Given the description of an element on the screen output the (x, y) to click on. 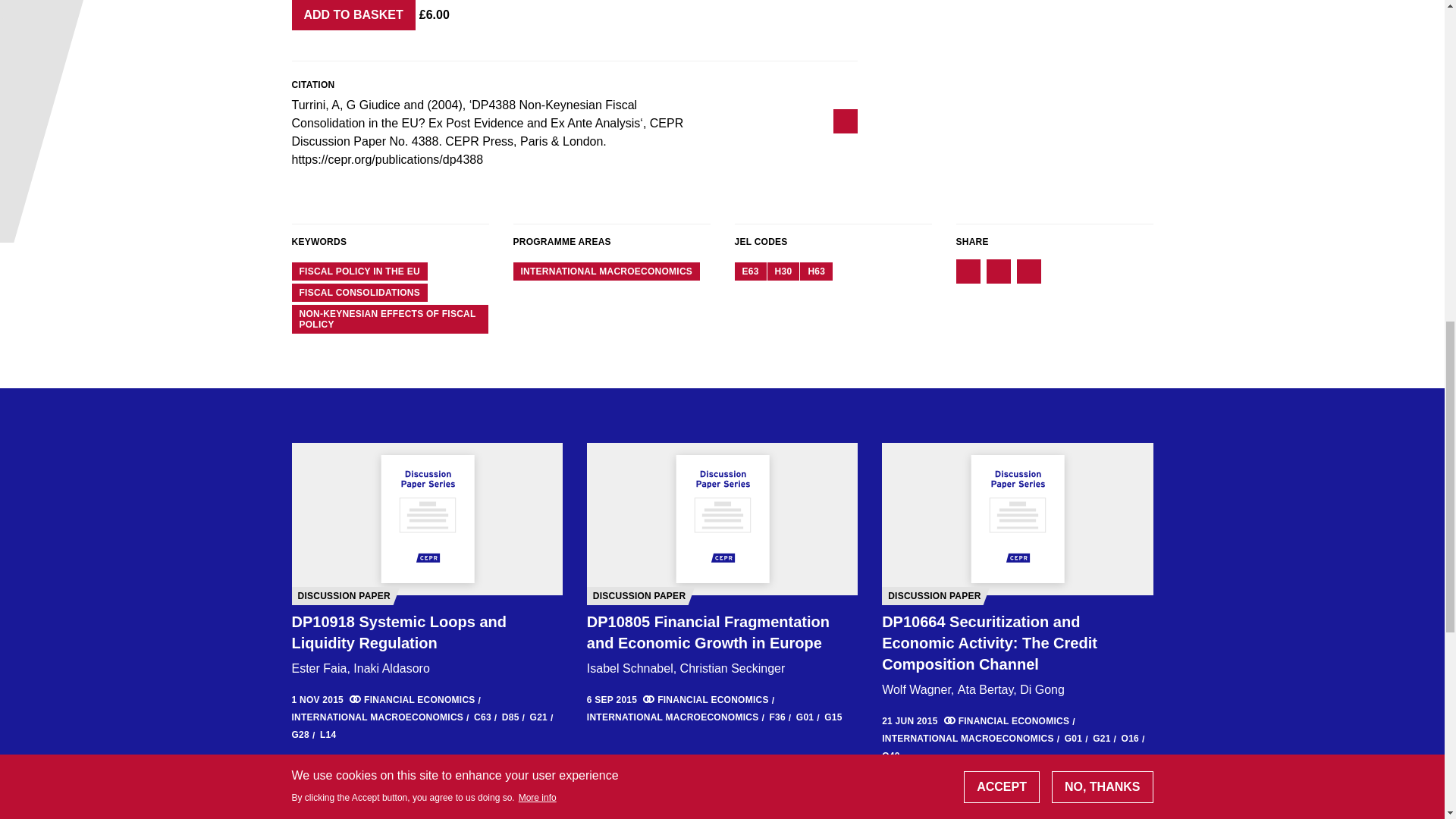
Add to basket (352, 15)
